Given the description of an element on the screen output the (x, y) to click on. 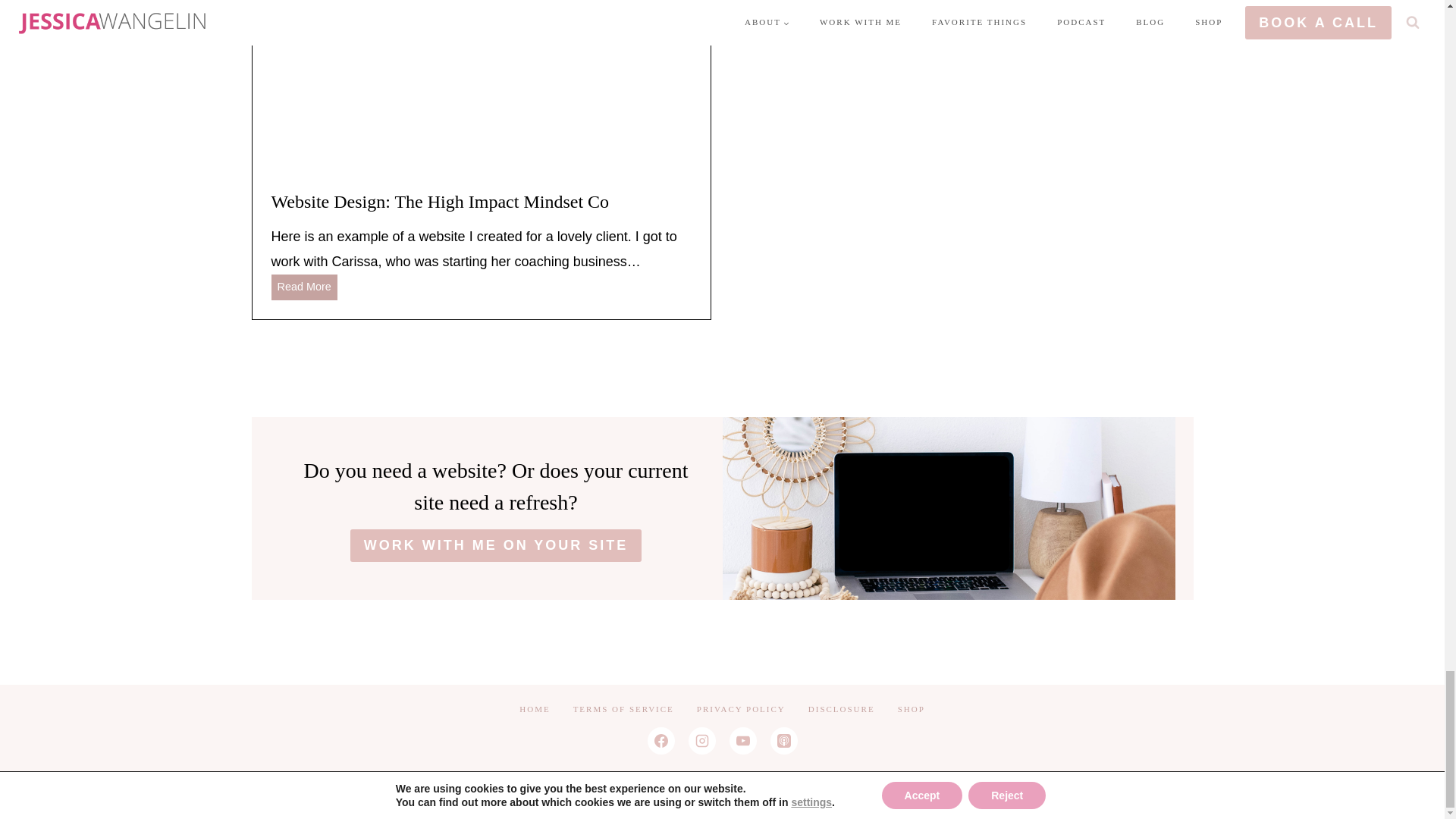
WORK WITH ME ON YOUR SITE (303, 287)
HOME (496, 545)
SHOP (534, 709)
TERMS OF SERVICE (911, 709)
PRIVACY POLICY (623, 709)
Website Design: The High Impact Mindset Co (740, 709)
DISCLOSURE (480, 201)
